Given the description of an element on the screen output the (x, y) to click on. 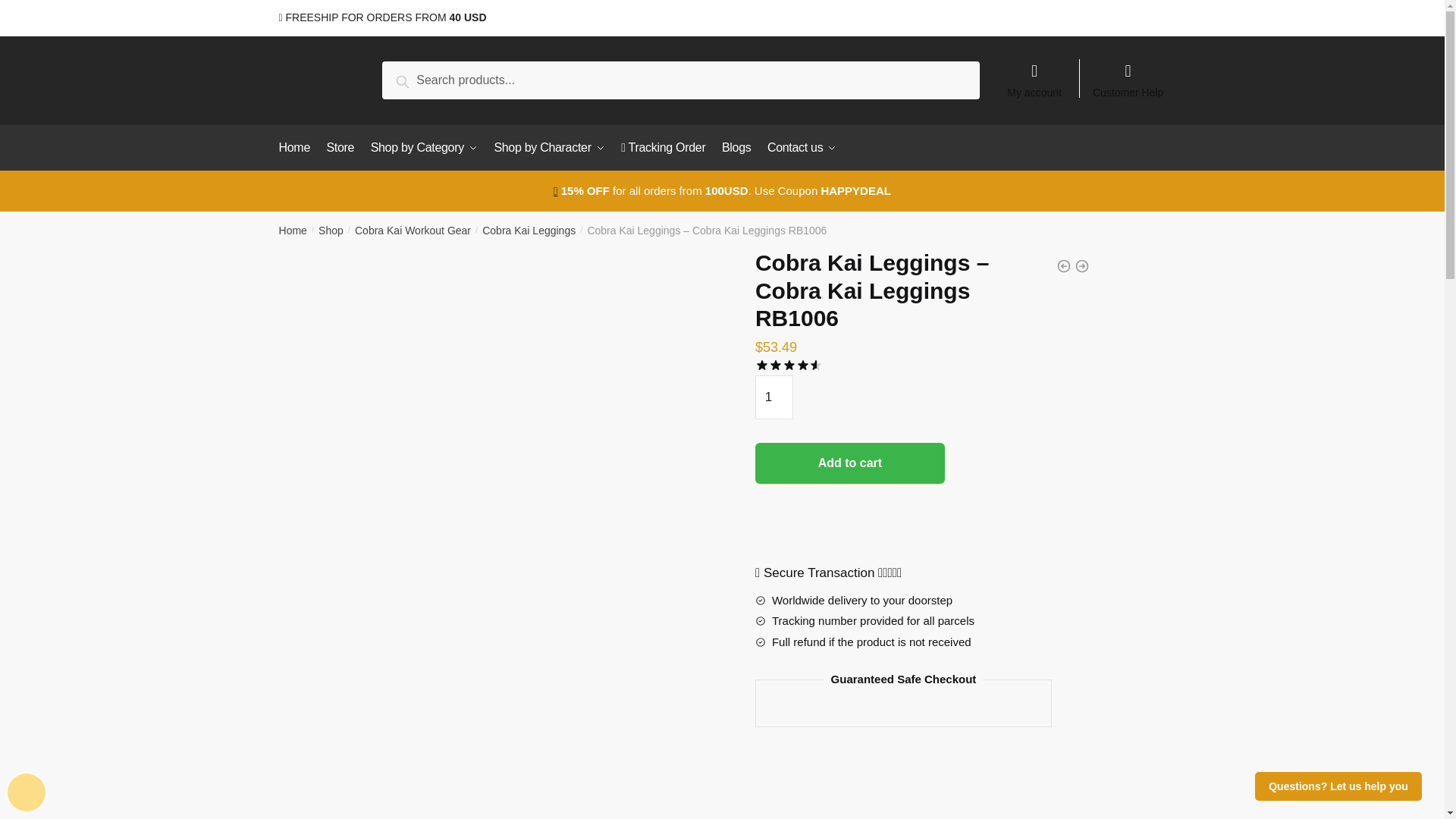
Shop by Category (424, 147)
My account (1033, 73)
Customer Help (1128, 73)
